Given the description of an element on the screen output the (x, y) to click on. 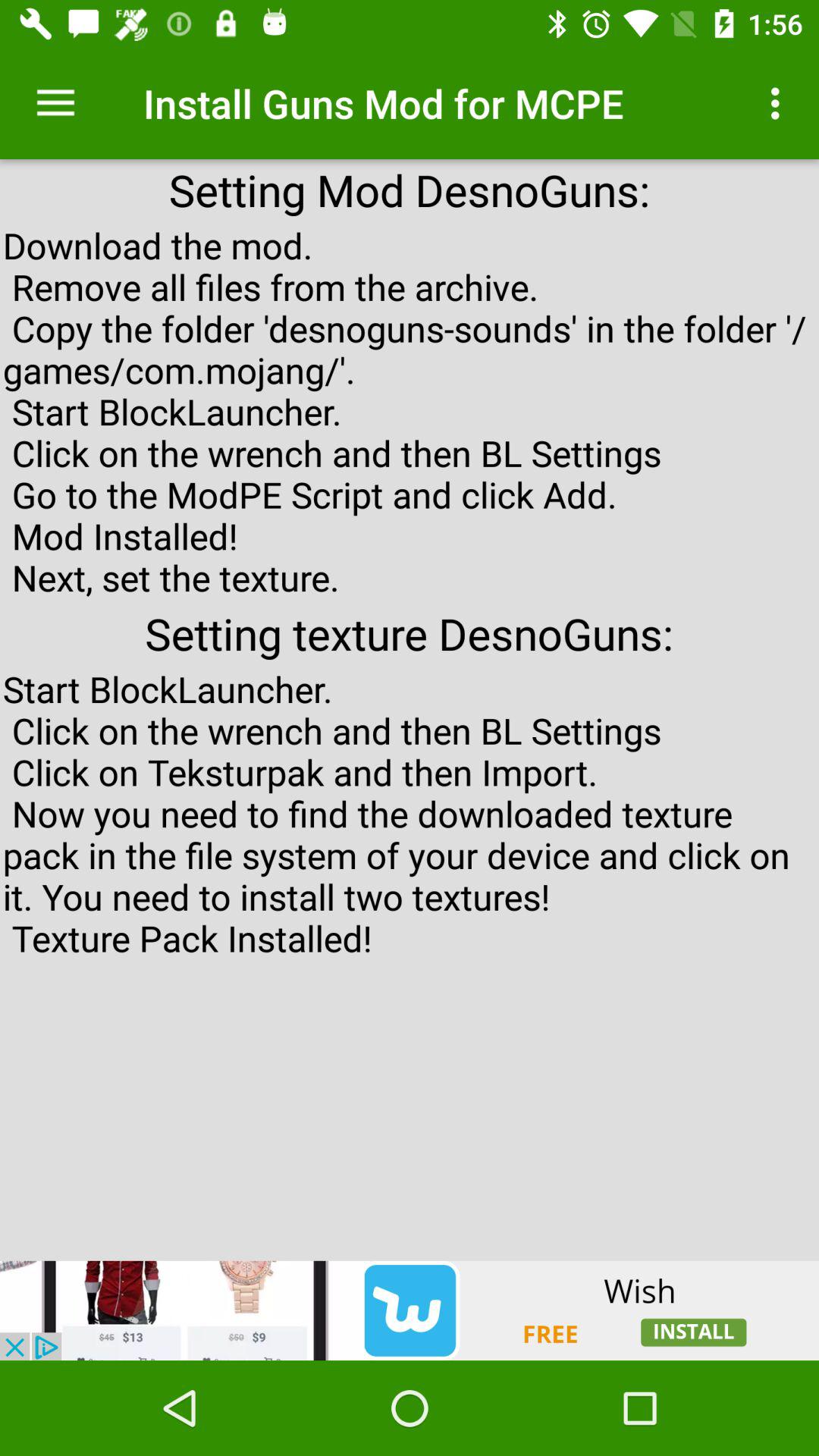
advertisement banner (409, 1310)
